Given the description of an element on the screen output the (x, y) to click on. 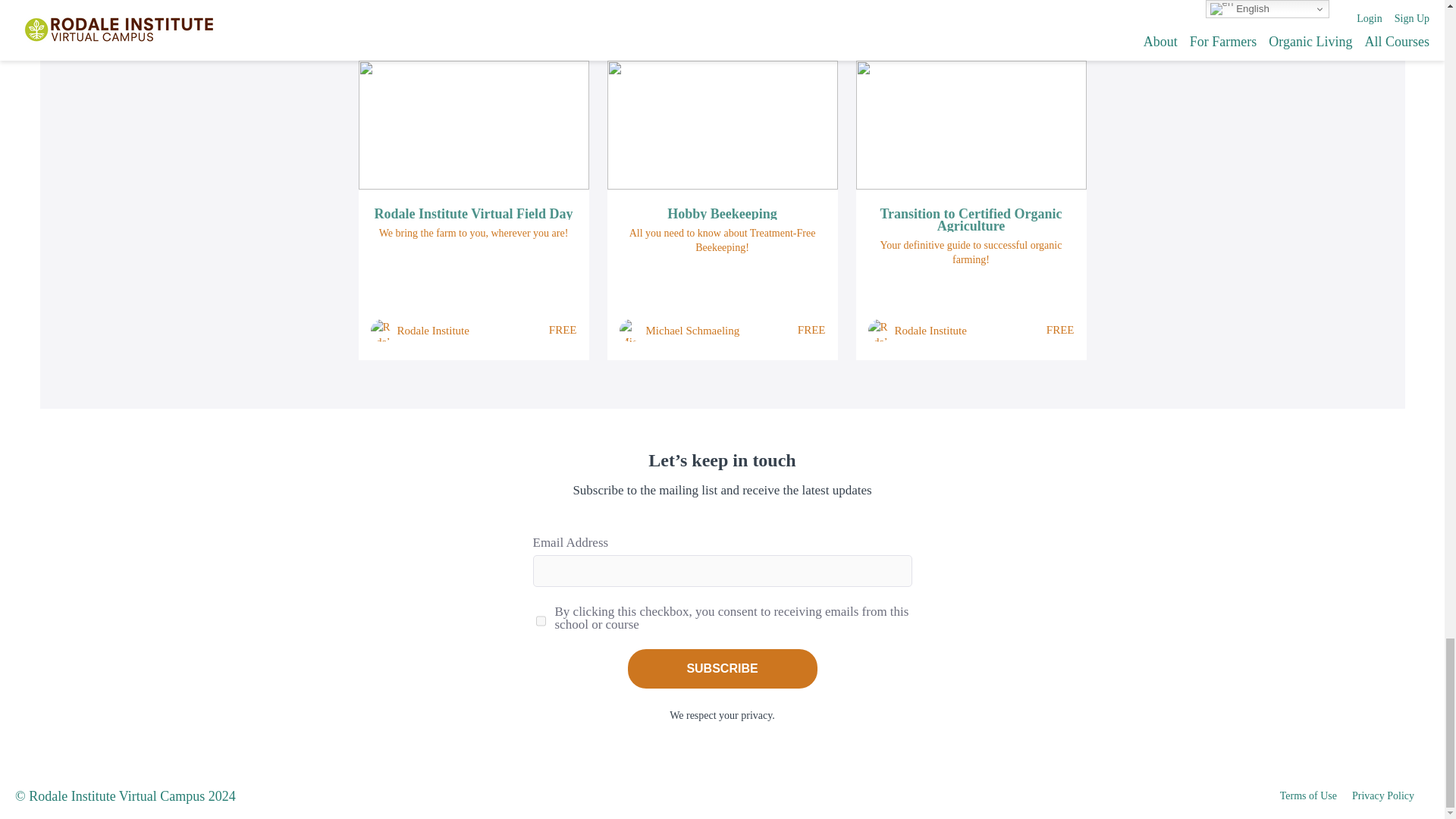
Rodale Institute Virtual Field Day (472, 214)
All you need to know about Treatment-Free Beekeeping! (721, 240)
We bring the farm to you, wherever you are! (472, 233)
Hobby Beekeeping (721, 214)
Rodale Institute (432, 330)
